Given the description of an element on the screen output the (x, y) to click on. 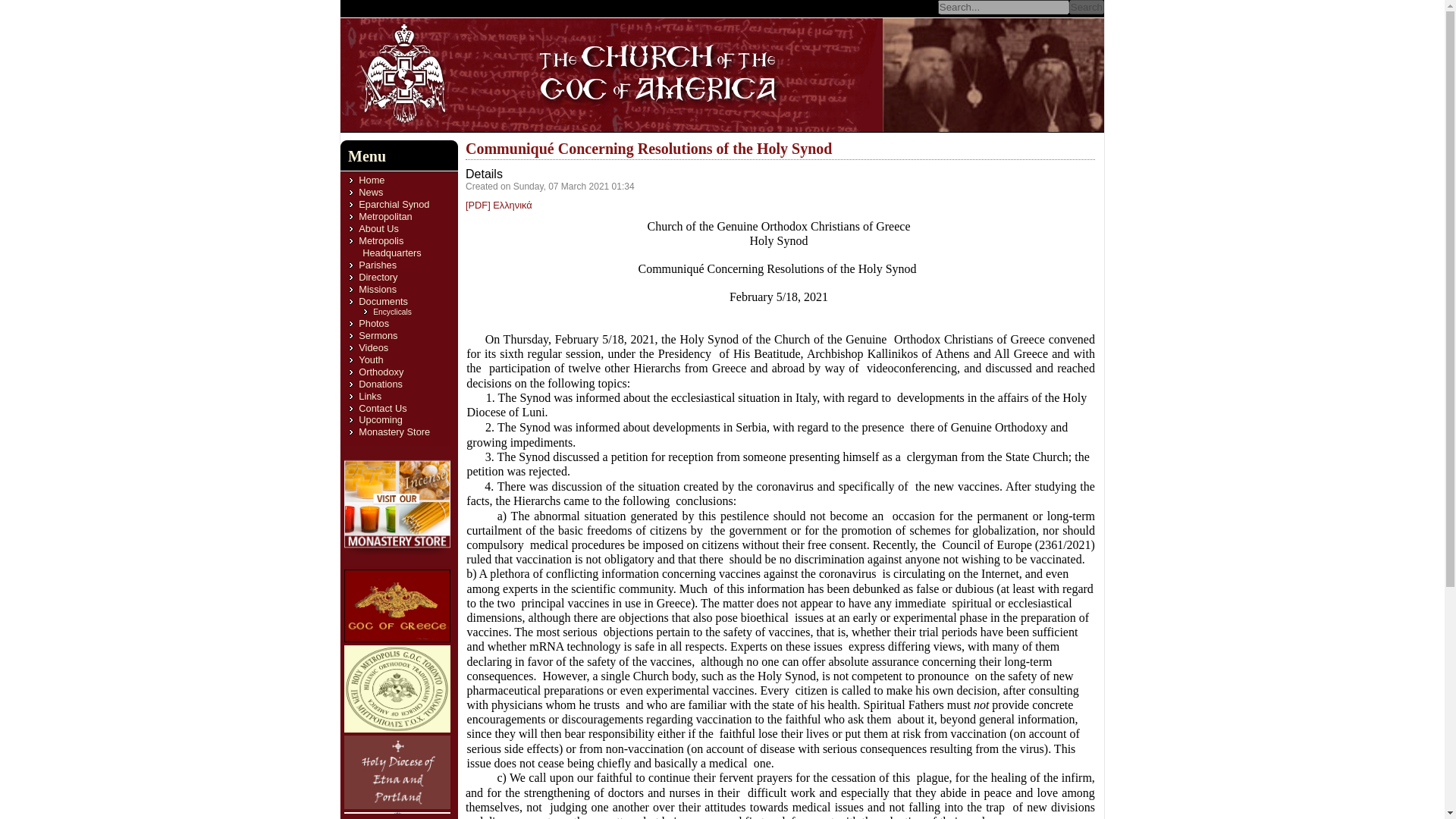
Parishes (377, 265)
Videos (373, 347)
Directory (377, 276)
Sermons (377, 335)
Metropolitan (385, 215)
Links (369, 396)
Documents (382, 301)
Upcoming (380, 419)
Donations (380, 383)
News (370, 192)
About Us (378, 228)
Monastery Store (393, 431)
Home (371, 179)
Search... (1002, 7)
